Given the description of an element on the screen output the (x, y) to click on. 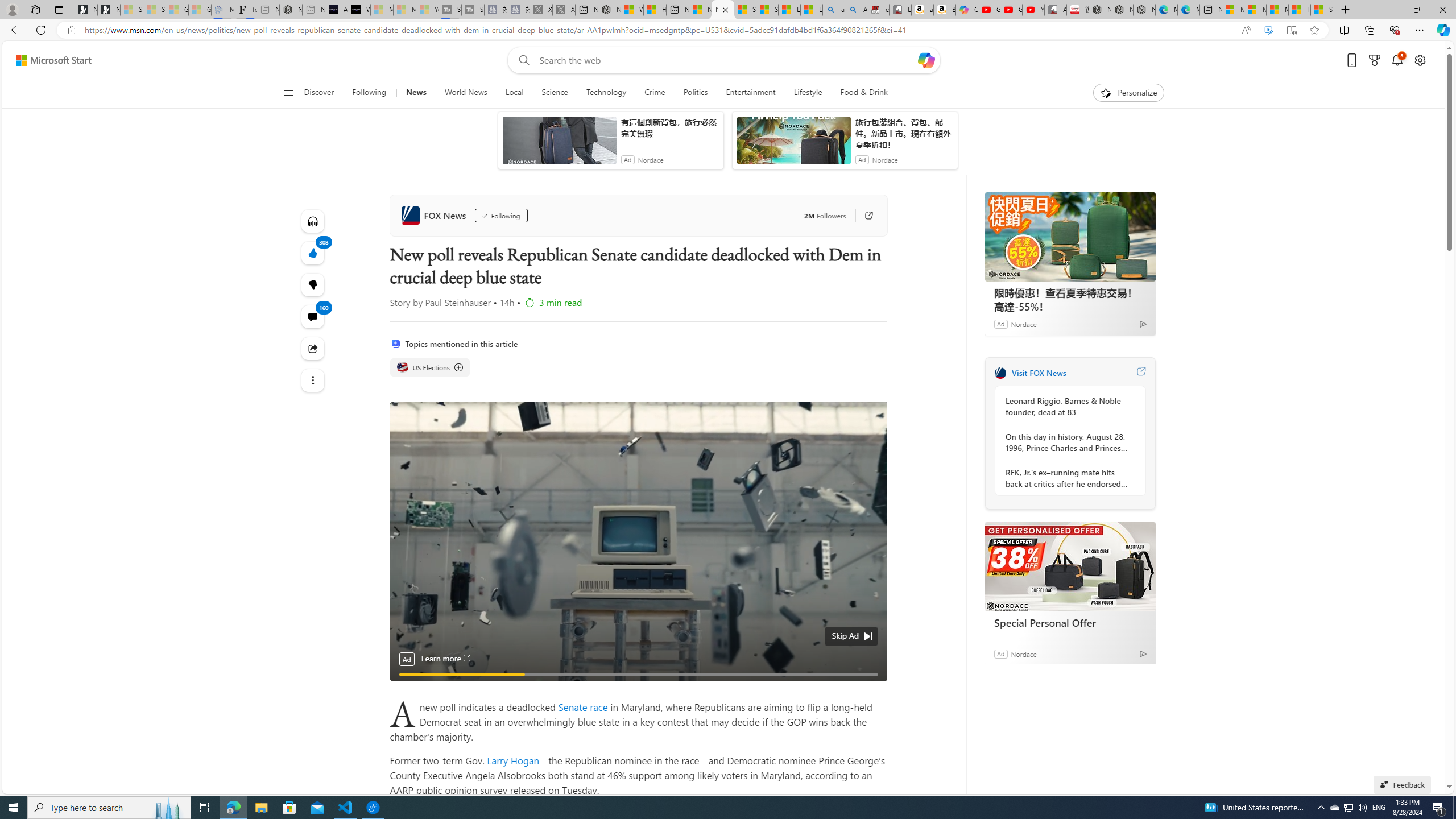
Nordace - Nordace has arrived Hong Kong (1144, 9)
Notifications (1397, 60)
Food & Drink (864, 92)
Streaming Coverage | T3 - Sleeping (449, 9)
Crime (654, 92)
Entertainment (750, 92)
